Given the description of an element on the screen output the (x, y) to click on. 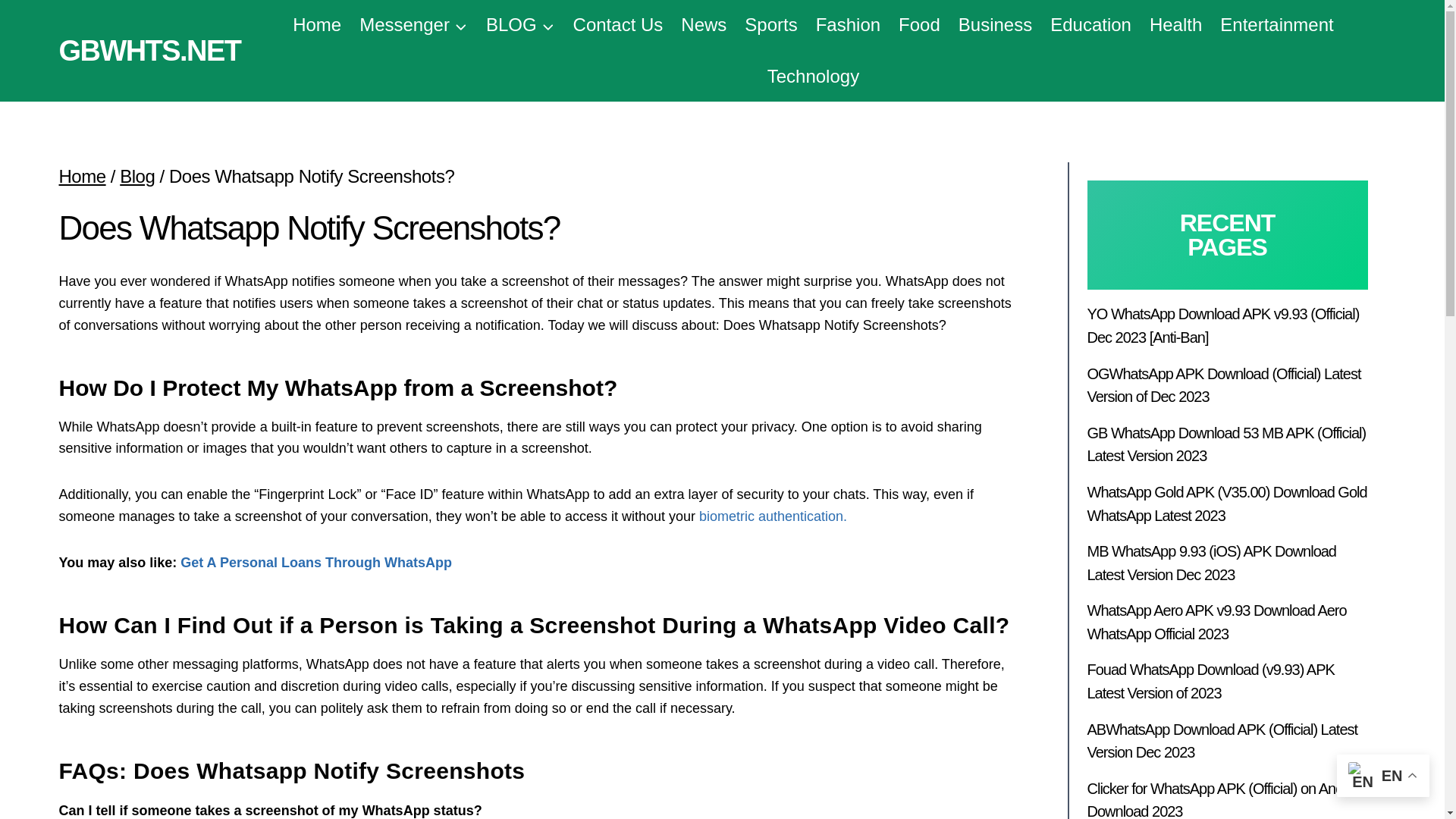
Health (1175, 25)
GBWHTS.NET (150, 50)
Education (1090, 25)
Messenger (413, 25)
Contact Us (618, 25)
Sports (770, 25)
Entertainment (1276, 25)
Technology (812, 75)
BLOG (520, 25)
Fashion (847, 25)
Home (316, 25)
Food (919, 25)
News (703, 25)
Business (995, 25)
